Given the description of an element on the screen output the (x, y) to click on. 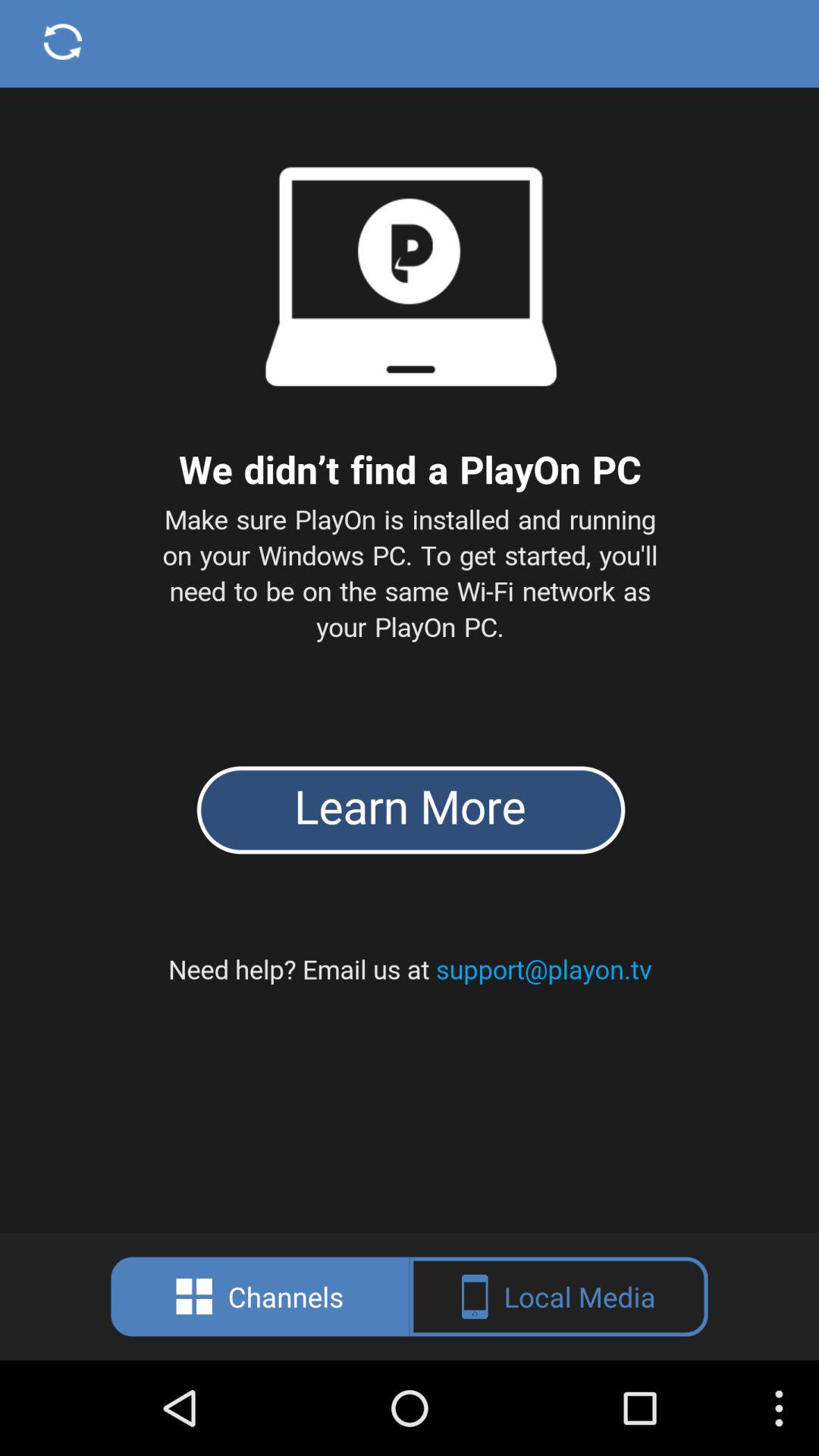
copy text (409, 616)
